Given the description of an element on the screen output the (x, y) to click on. 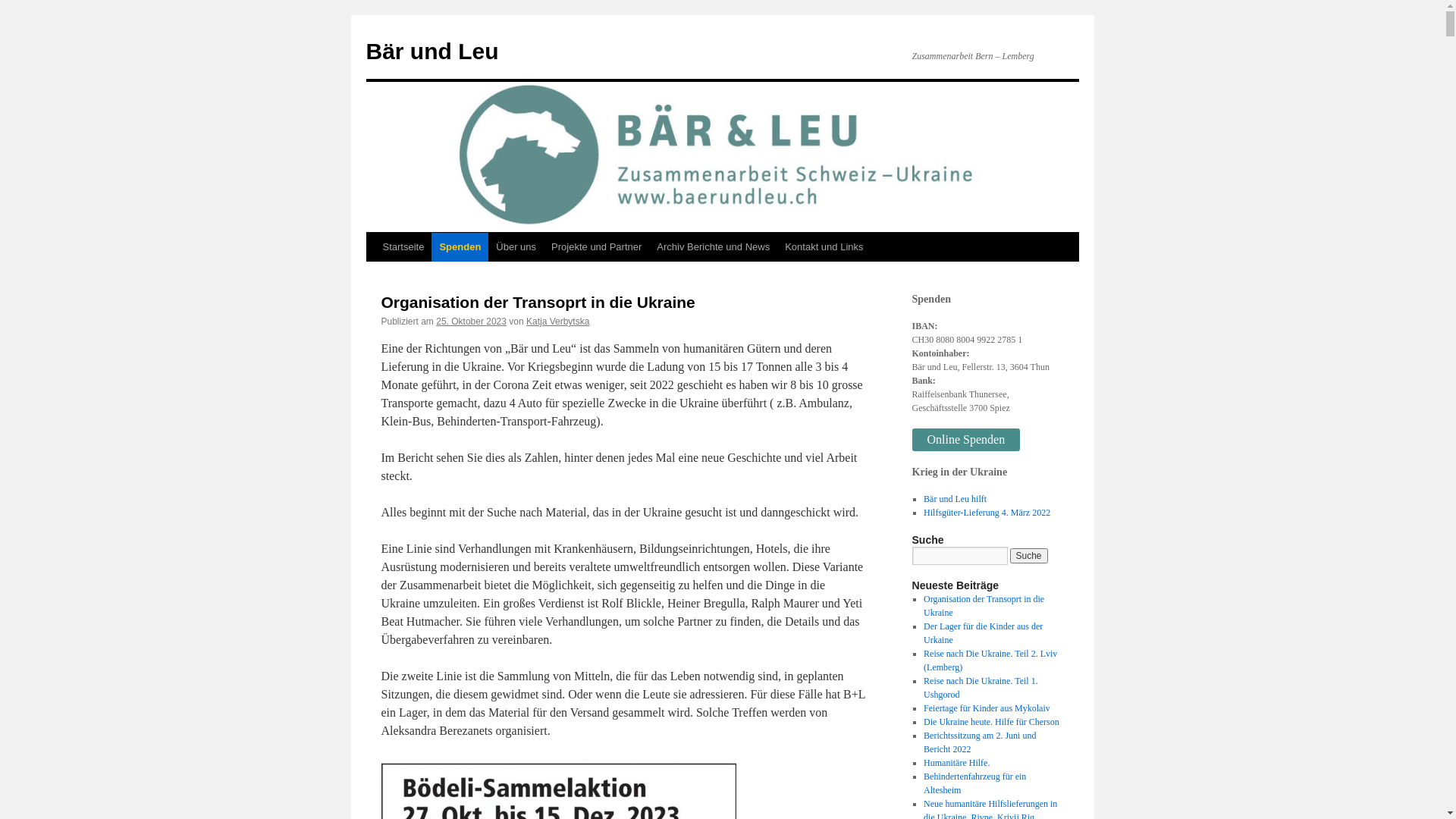
Projekte und Partner Element type: text (596, 246)
Reise nach Die Ukraine. Teil 2. Lviv (Lemberg) Element type: text (990, 660)
Zum Inhalt springen Element type: text (372, 275)
Online Spenden Element type: text (965, 439)
Reise nach Die Ukraine. Teil 1. Ushgorod Element type: text (980, 687)
Archiv Berichte und News Element type: text (713, 246)
Kontakt und Links Element type: text (823, 246)
Organisation der Transoprt in die Ukraine Element type: text (983, 605)
Startseite Element type: text (402, 246)
Berichtssitzung am 2. Juni und Bericht 2022 Element type: text (979, 742)
Katja Verbytska Element type: text (557, 321)
Organisation der Transoprt in die Ukraine Element type: text (537, 301)
Suche Element type: text (1029, 555)
Spenden Element type: text (459, 246)
25. Oktober 2023 Element type: text (471, 321)
